Given the description of an element on the screen output the (x, y) to click on. 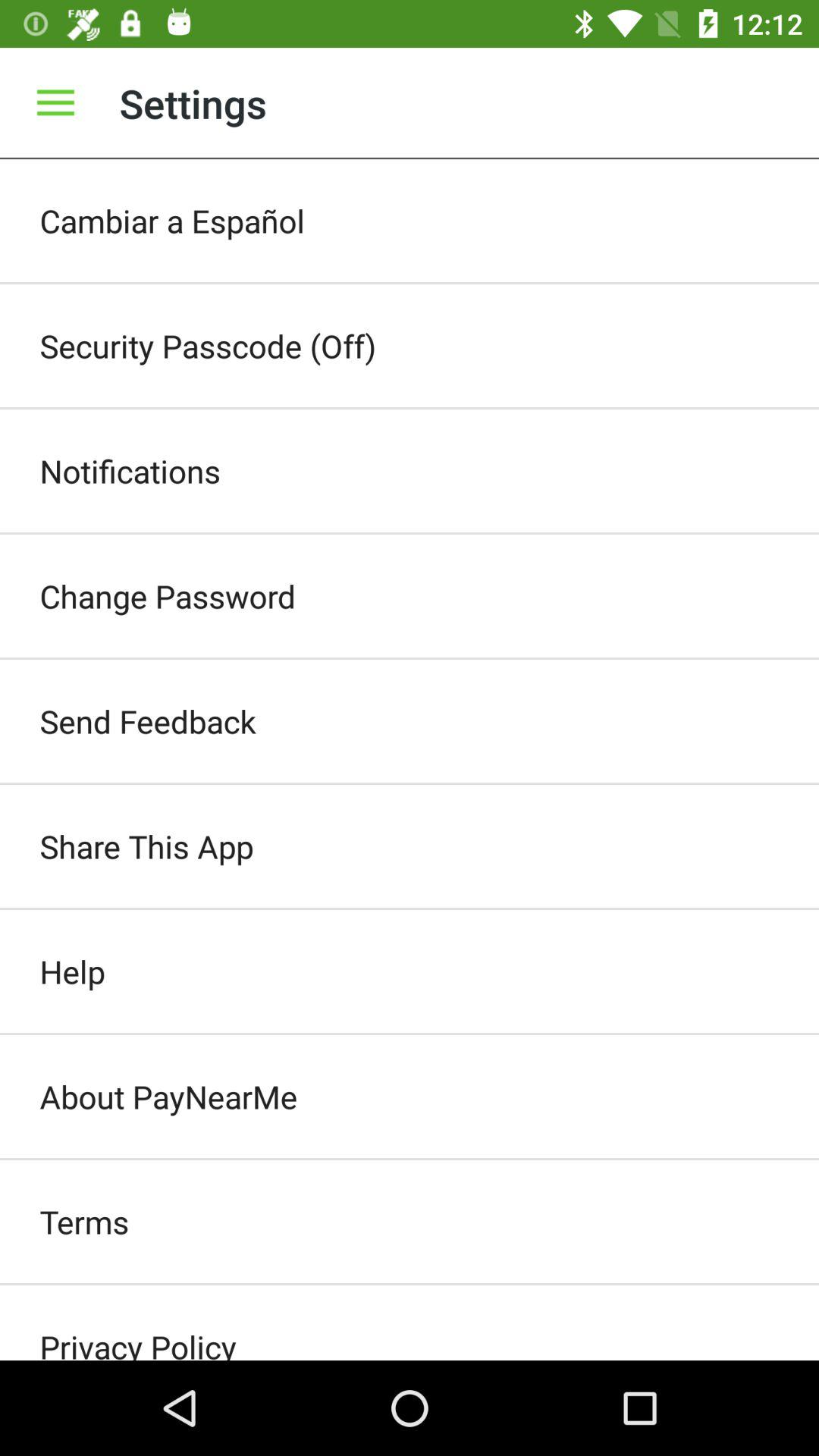
flip until terms (409, 1221)
